Given the description of an element on the screen output the (x, y) to click on. 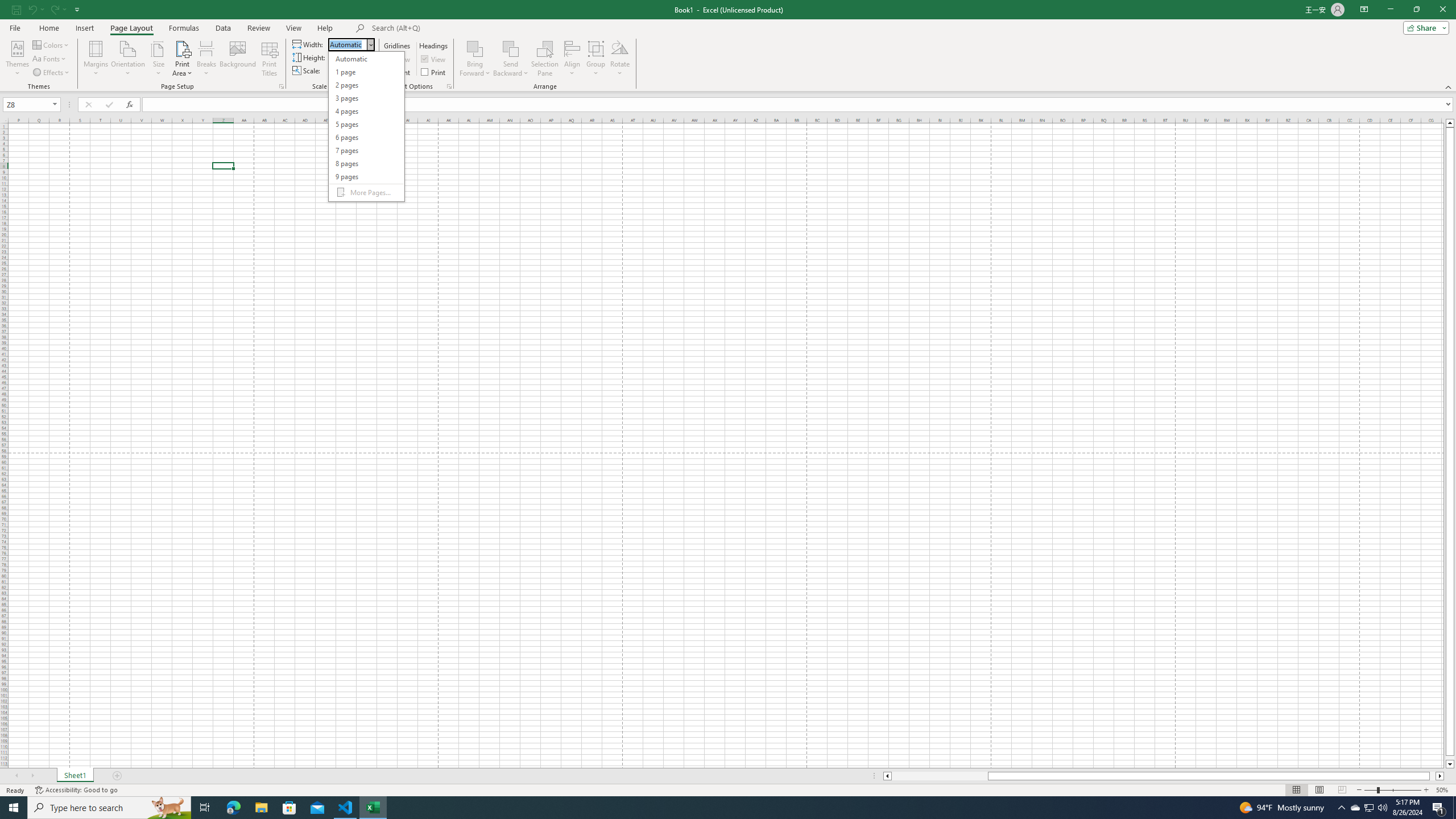
Align (571, 58)
Print (434, 71)
Restore Down (1416, 9)
Page Layout (1318, 790)
Microsoft search (450, 28)
Page left (939, 775)
More Pages... (366, 192)
Ribbon Display Options (1364, 9)
Customize Quick Access Toolbar (77, 9)
Send Backward (510, 58)
More (360, 67)
Width (350, 44)
Page Break Preview (1342, 790)
Class: NetUIScrollBar (1163, 775)
Column right (1440, 775)
